Given the description of an element on the screen output the (x, y) to click on. 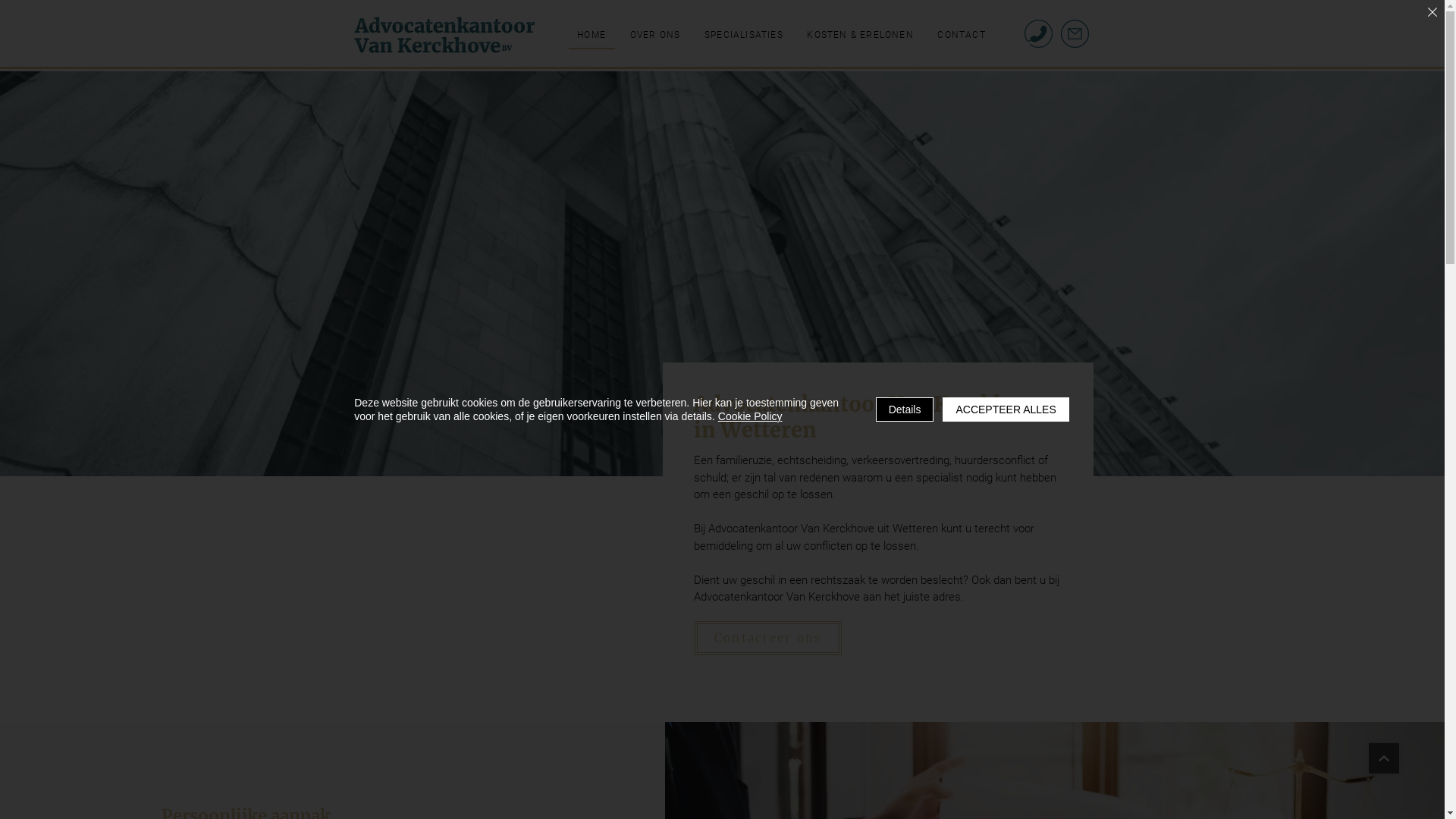
KOSTEN & ERELONEN Element type: text (860, 35)
ACCEPTEER ALLES Element type: text (1005, 409)
HOME Element type: text (591, 35)
SPECIALISATIES Element type: text (743, 35)
CONTACT Element type: text (961, 35)
Contacteer ons Element type: text (767, 637)
Details Element type: text (904, 409)
OVER ONS Element type: text (655, 35)
Cookie Policy Element type: text (750, 416)
